Given the description of an element on the screen output the (x, y) to click on. 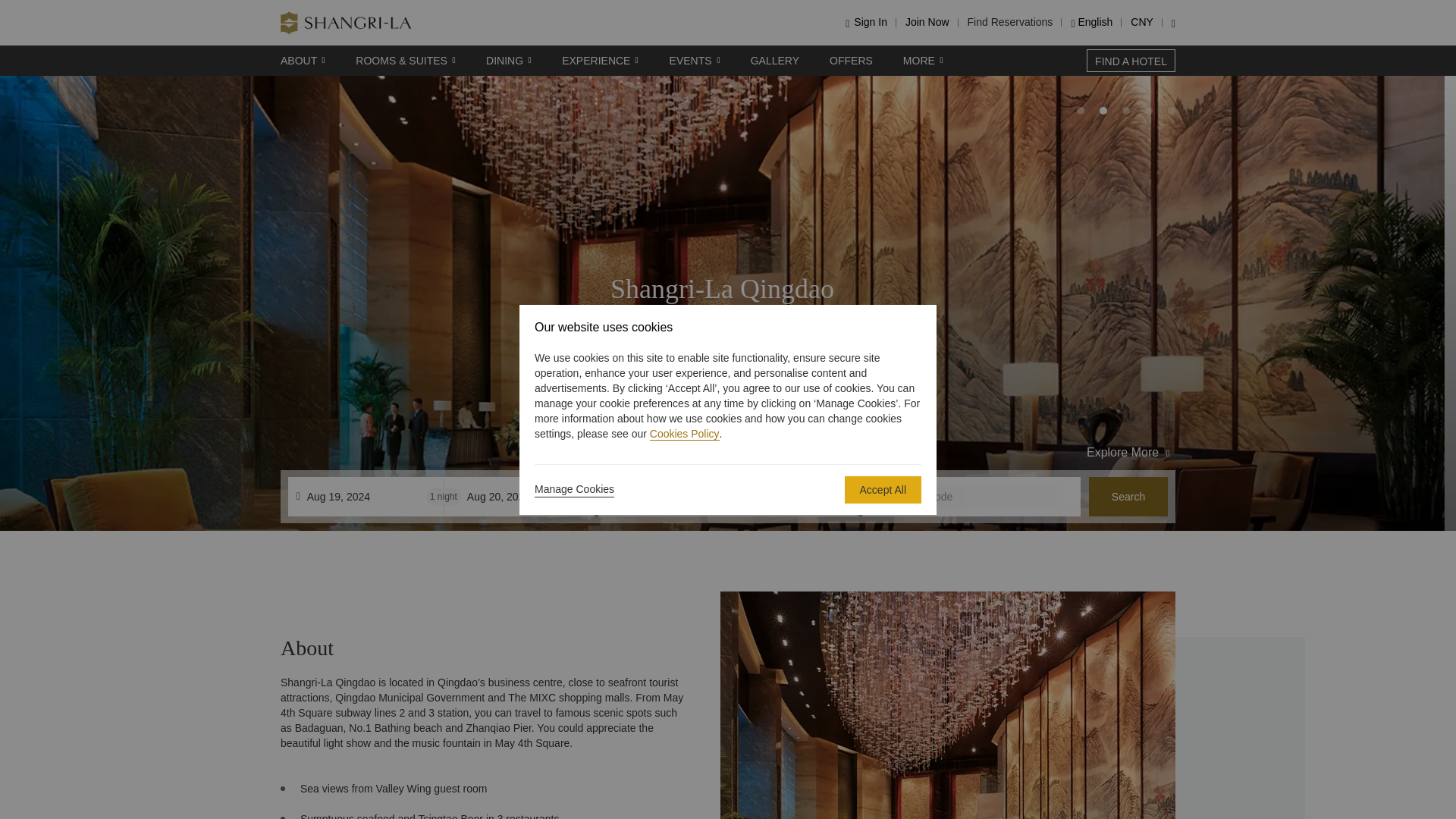
Aug 19, 2024 (366, 496)
Find Reservations (1010, 21)
ABOUT (302, 60)
DINING (508, 60)
Aug 20, 2024 (526, 496)
EVENTS (694, 60)
EXPERIENCE (600, 60)
